Given the description of an element on the screen output the (x, y) to click on. 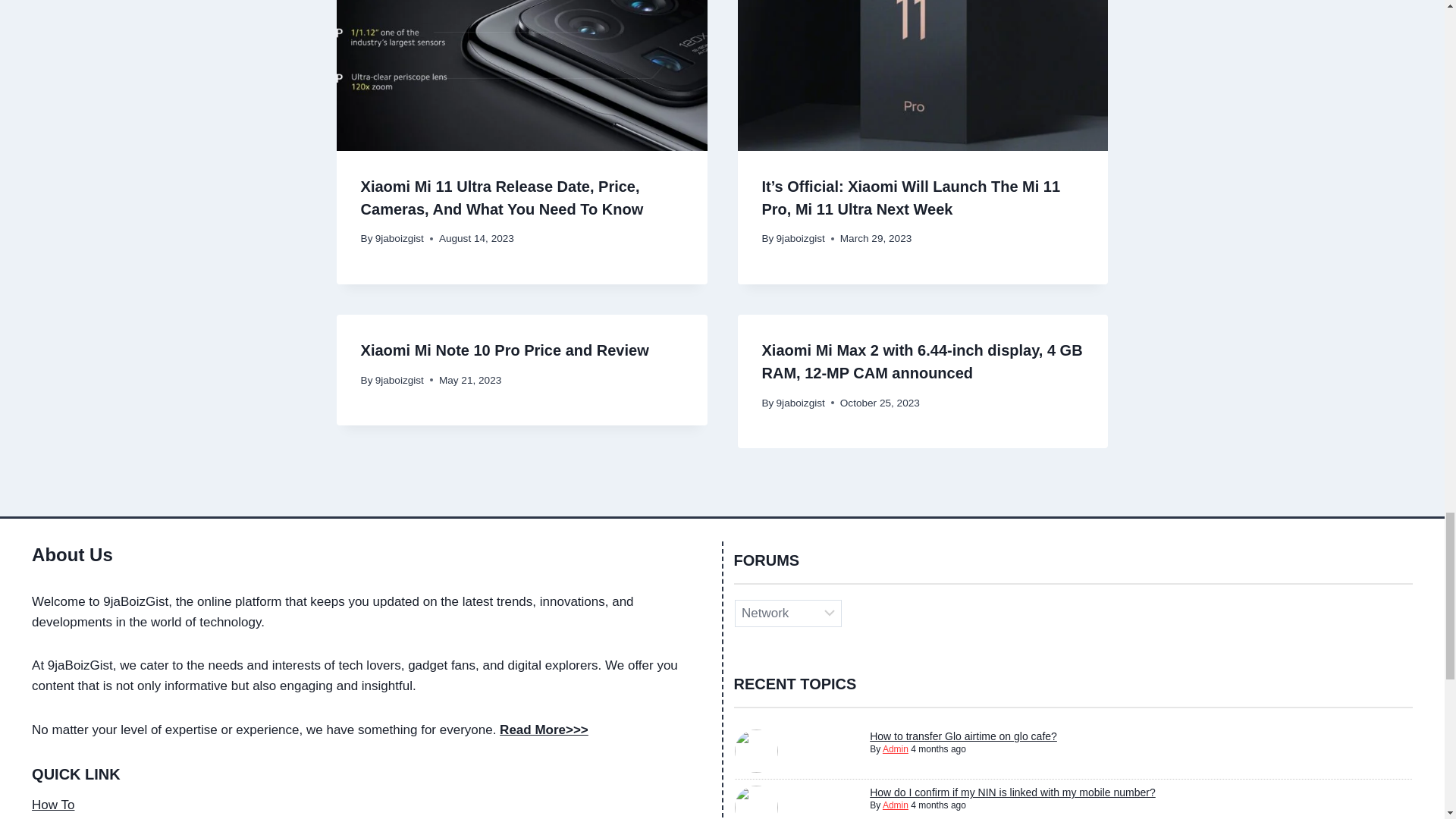
How do I confirm if my NIN is linked with my mobile number? (1012, 792)
Admin (895, 805)
Admin (895, 748)
How to transfer Glo airtime on glo cafe? (963, 736)
